Given the description of an element on the screen output the (x, y) to click on. 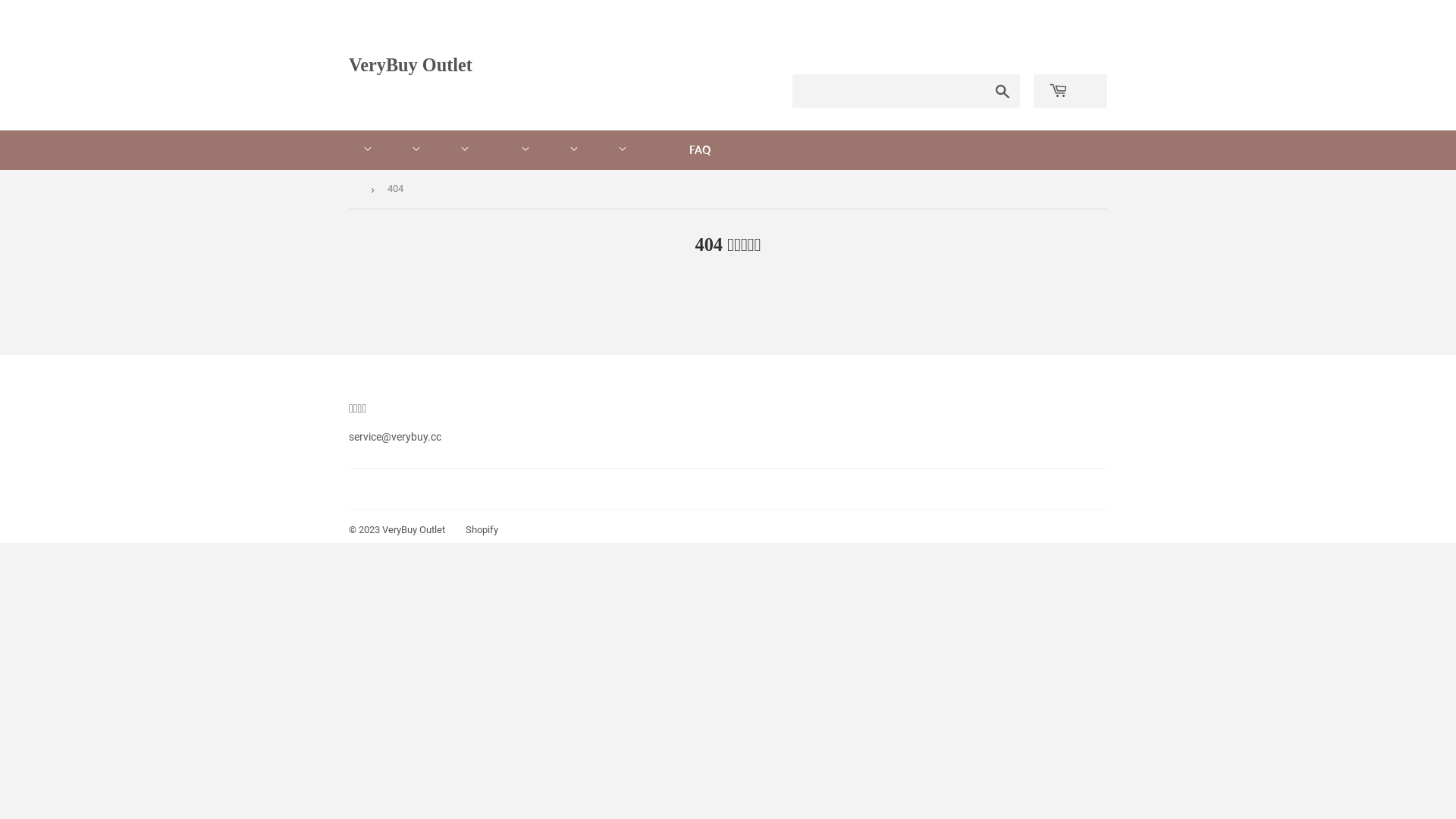
service@verybuy.cc Element type: text (394, 436)
VeryBuy Outlet Element type: text (538, 65)
VeryBuy Outlet Element type: text (413, 529)
